Given the description of an element on the screen output the (x, y) to click on. 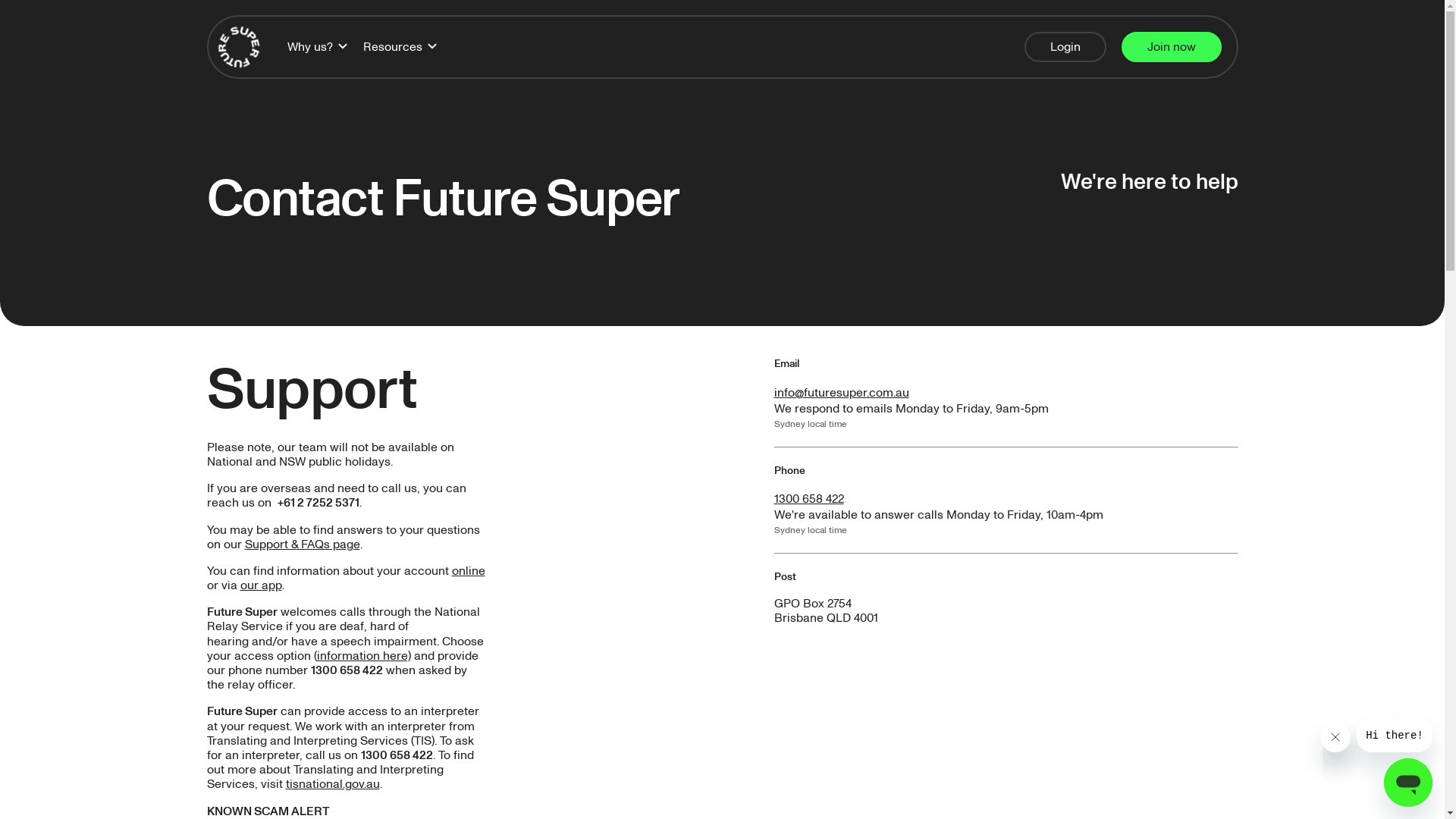
Login Element type: text (1064, 46)
Close message Element type: hover (1335, 736)
1300 658 422 Element type: text (808, 498)
our app Element type: text (260, 585)
Button to launch messaging window Element type: hover (1407, 782)
online Element type: text (468, 570)
Support & FAQs page Element type: text (301, 544)
information here) Element type: text (363, 655)
tisnational.gov.au Element type: text (332, 783)
info@futuresuper.com.au Element type: text (840, 392)
Message from company Element type: hover (1394, 735)
Join
 now Element type: text (1170, 46)
